Given the description of an element on the screen output the (x, y) to click on. 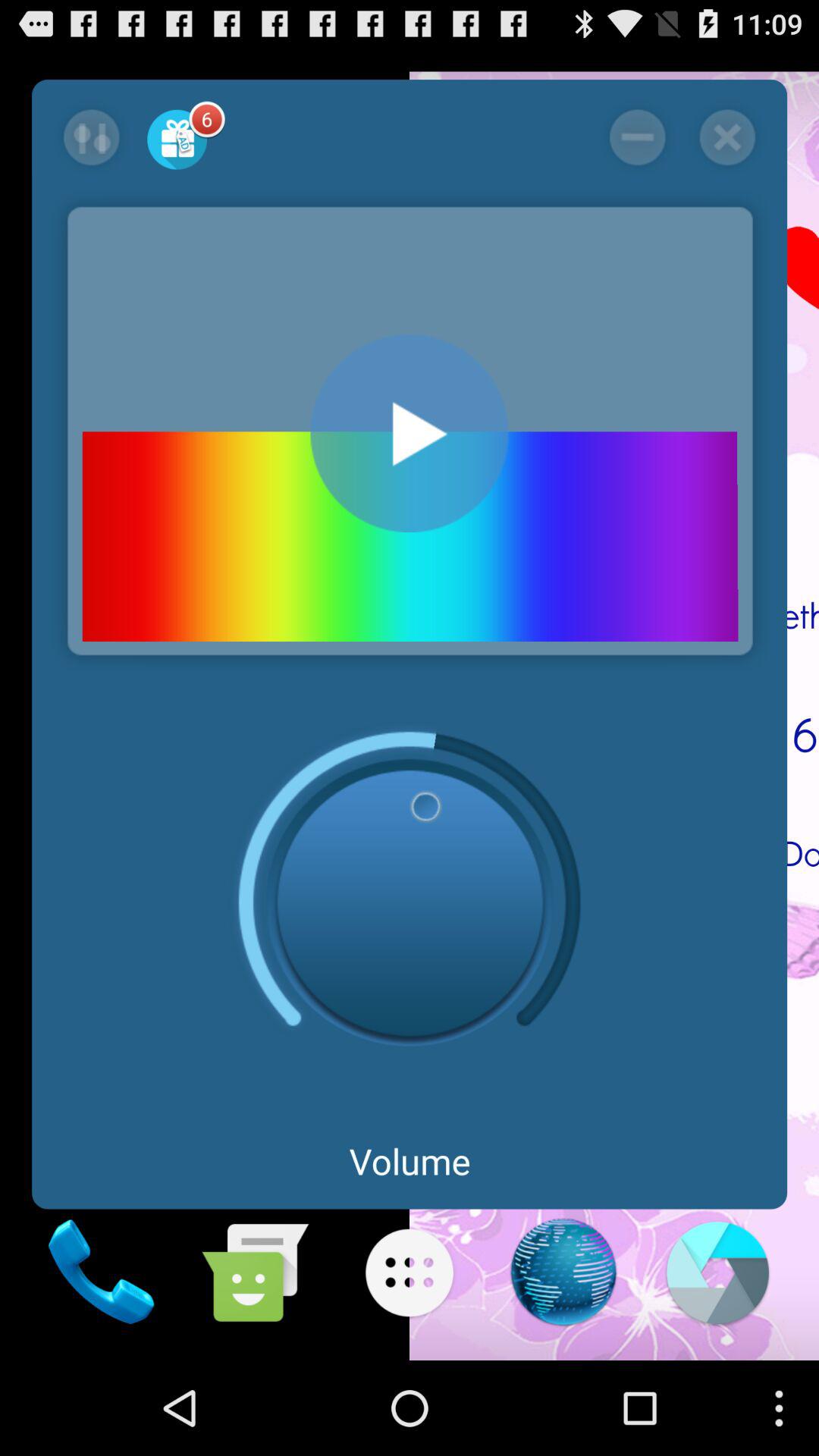
decrease volume (637, 137)
